Given the description of an element on the screen output the (x, y) to click on. 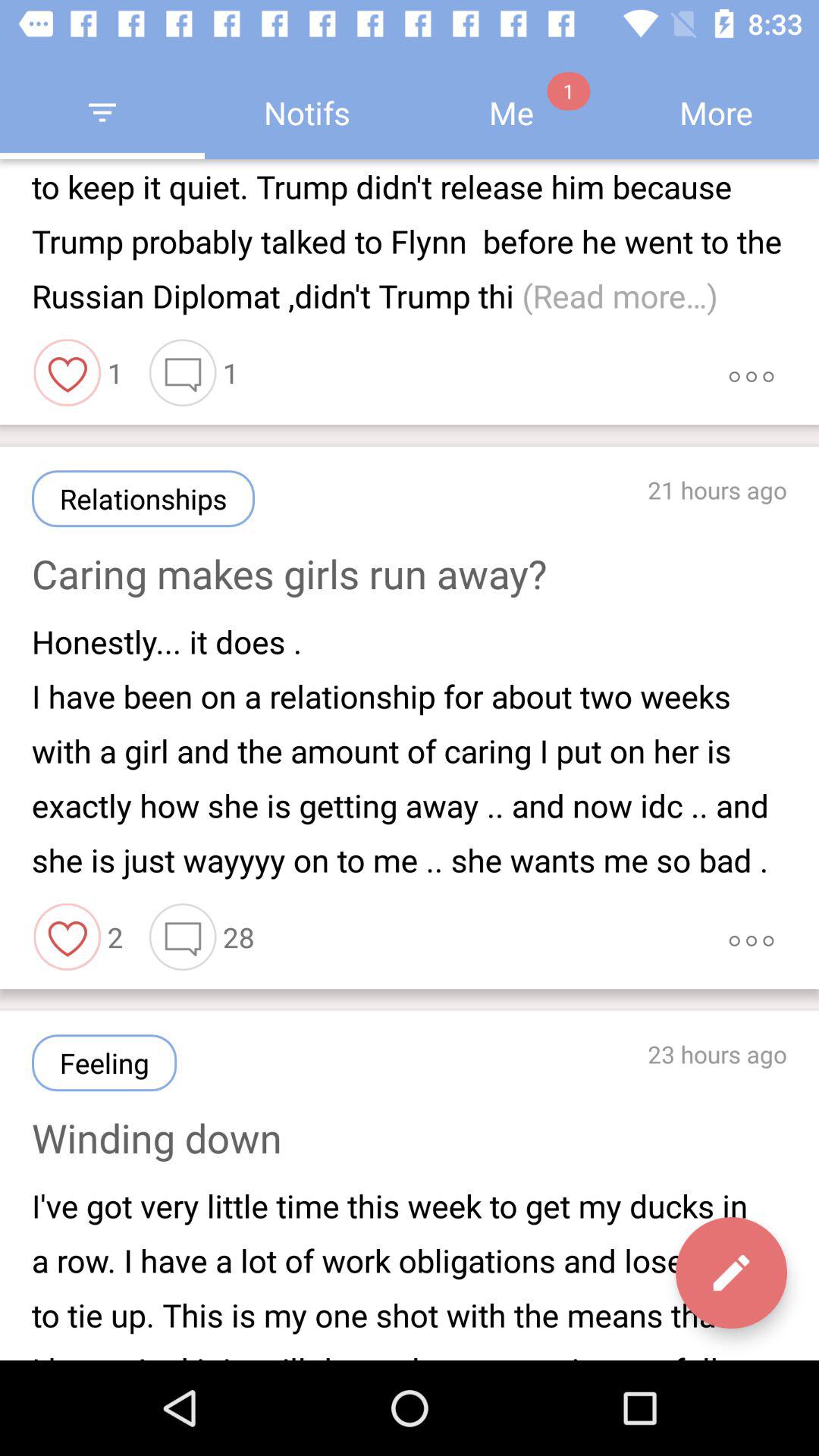
click i ve got item (409, 1272)
